Given the description of an element on the screen output the (x, y) to click on. 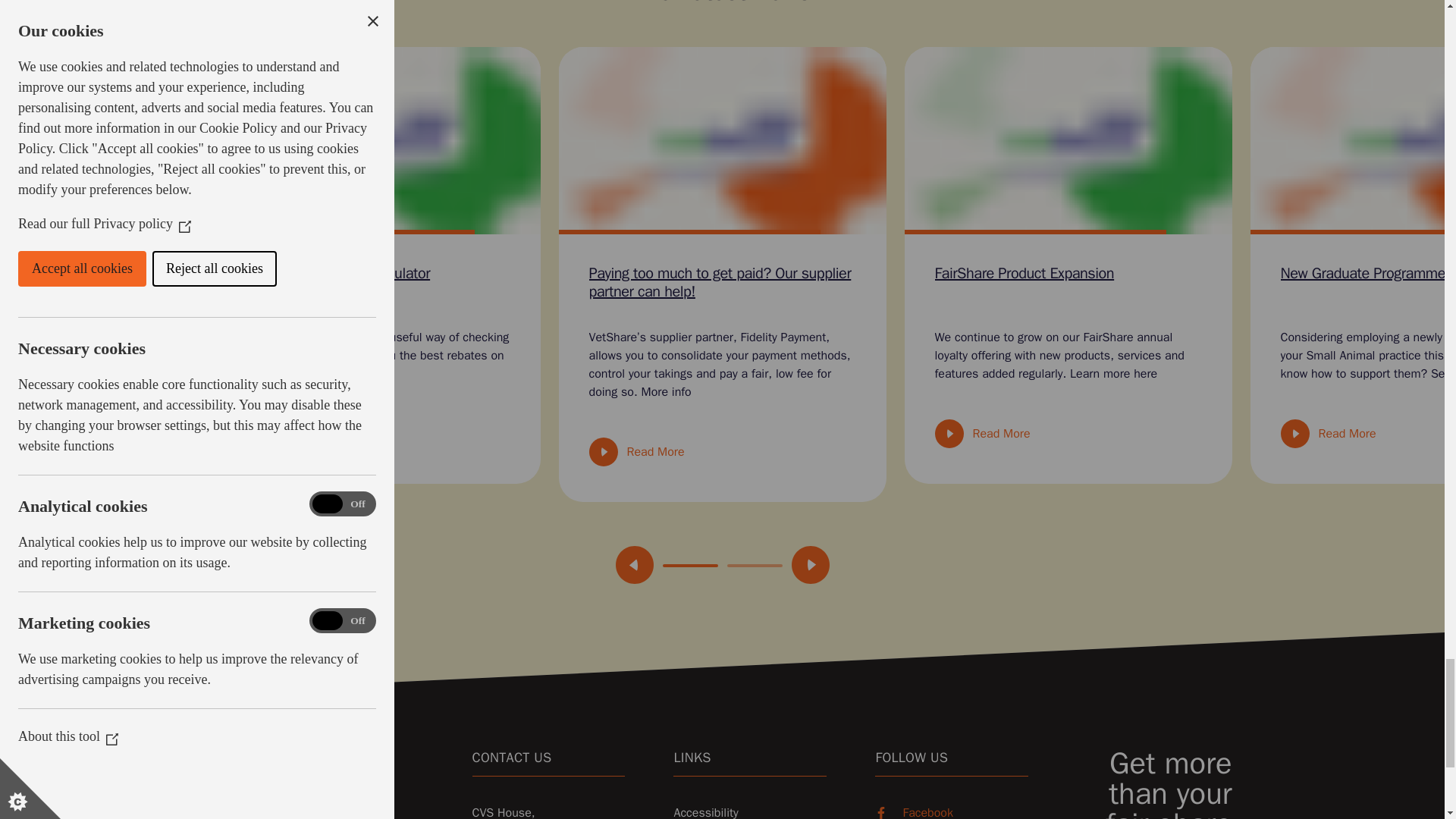
Read More (636, 451)
Read More (290, 433)
Read More (1327, 433)
Read More (981, 433)
